Given the description of an element on the screen output the (x, y) to click on. 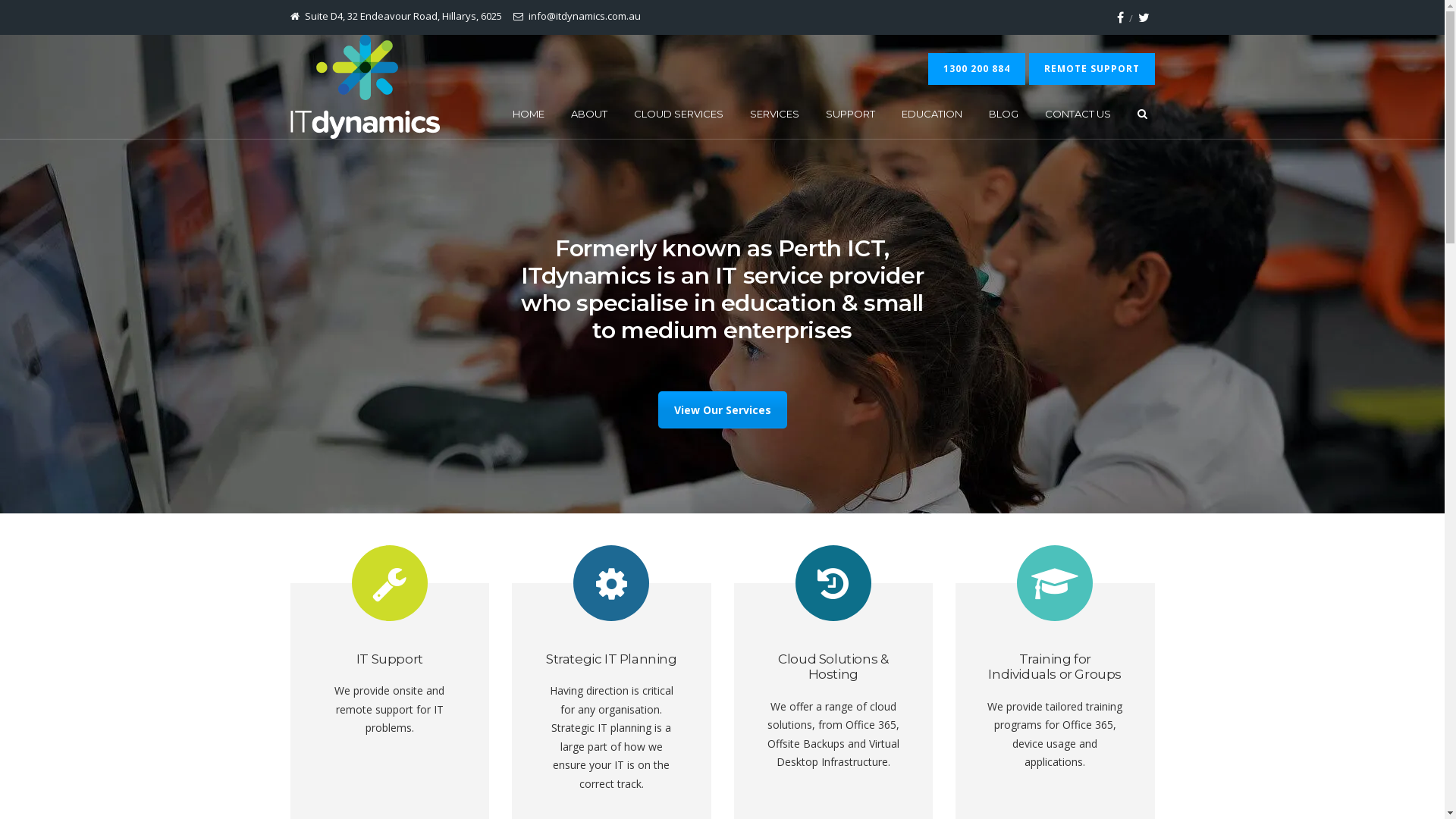
SERVICES Element type: text (773, 113)
EDUCATION Element type: text (931, 113)
CONTACT US Element type: text (1077, 113)
Facebook Element type: hover (1120, 17)
REMOTE SUPPORT Element type: text (1091, 68)
ITdynamics Element type: hover (364, 86)
Twitter Element type: hover (1143, 17)
BLOG Element type: text (1003, 113)
SUPPORT Element type: text (849, 113)
ABOUT Element type: text (588, 113)
1300 200 884 Element type: text (976, 68)
View Our Services Element type: text (722, 409)
HOME Element type: text (528, 113)
CLOUD SERVICES Element type: text (678, 113)
